Given the description of an element on the screen output the (x, y) to click on. 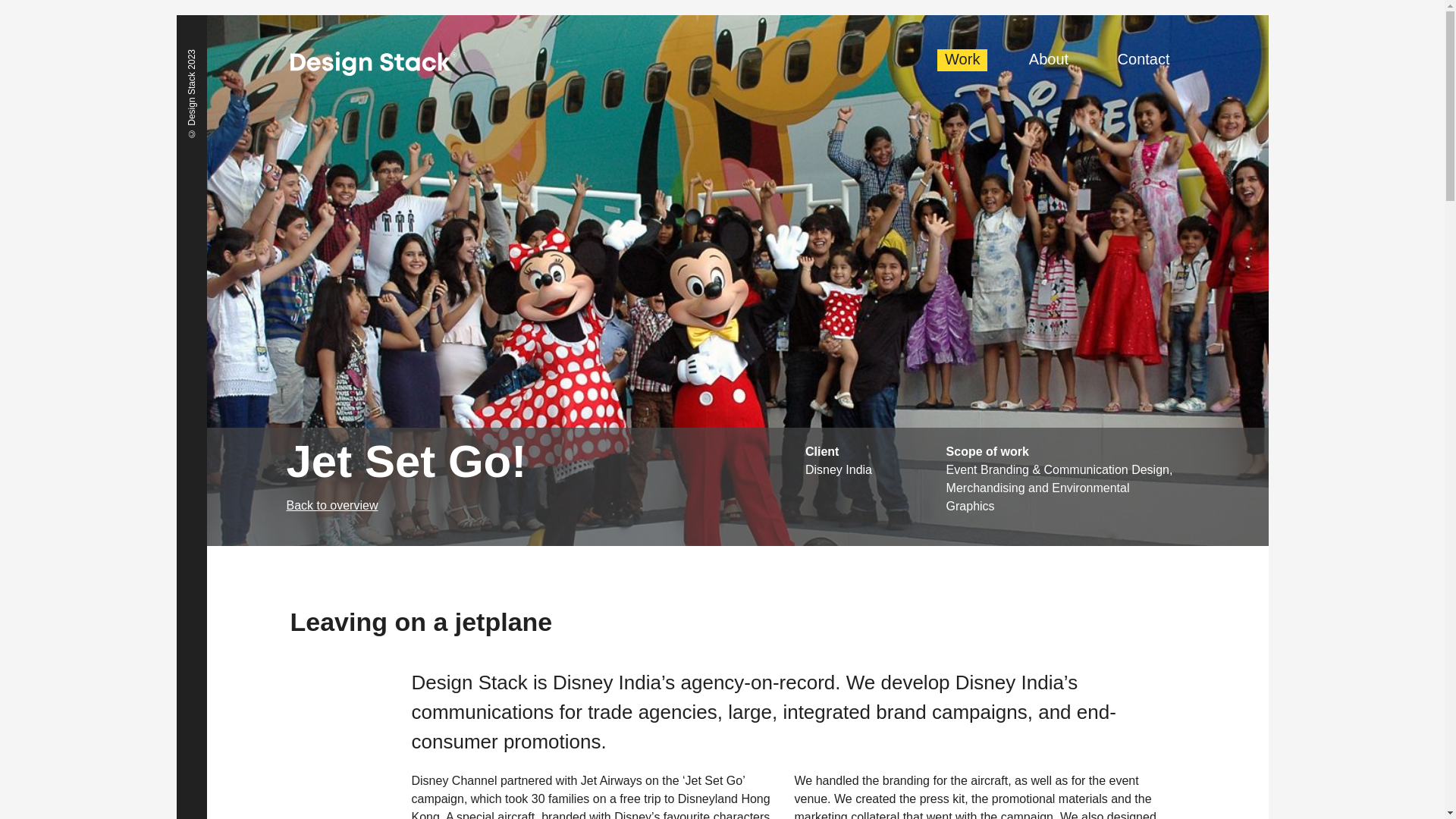
Facebook (971, 763)
About (1048, 60)
Work (962, 60)
Twitter (1026, 763)
Pinterest (999, 763)
Sign up (1061, 741)
Sign up (1061, 741)
Design Stack (372, 63)
Back to overview (545, 505)
Instagram (1054, 763)
